Given the description of an element on the screen output the (x, y) to click on. 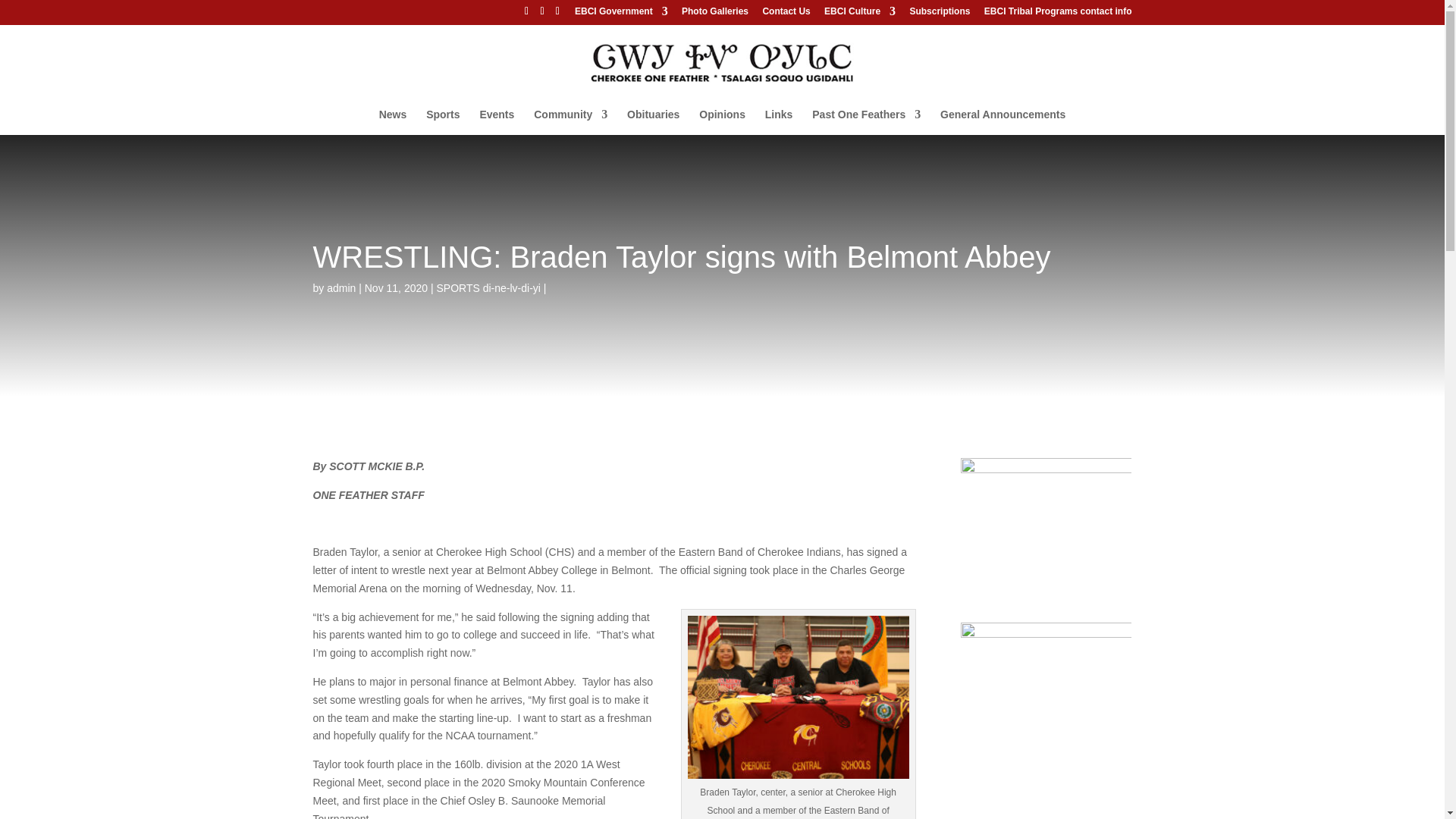
Events (496, 121)
EBCI Tribal Programs contact info (1058, 14)
Contact Us (785, 14)
Subscriptions (938, 14)
Sports (443, 121)
EBCI Government (621, 14)
Posts by admin (340, 287)
Photo Galleries (714, 14)
Community (570, 121)
News (392, 121)
